Given the description of an element on the screen output the (x, y) to click on. 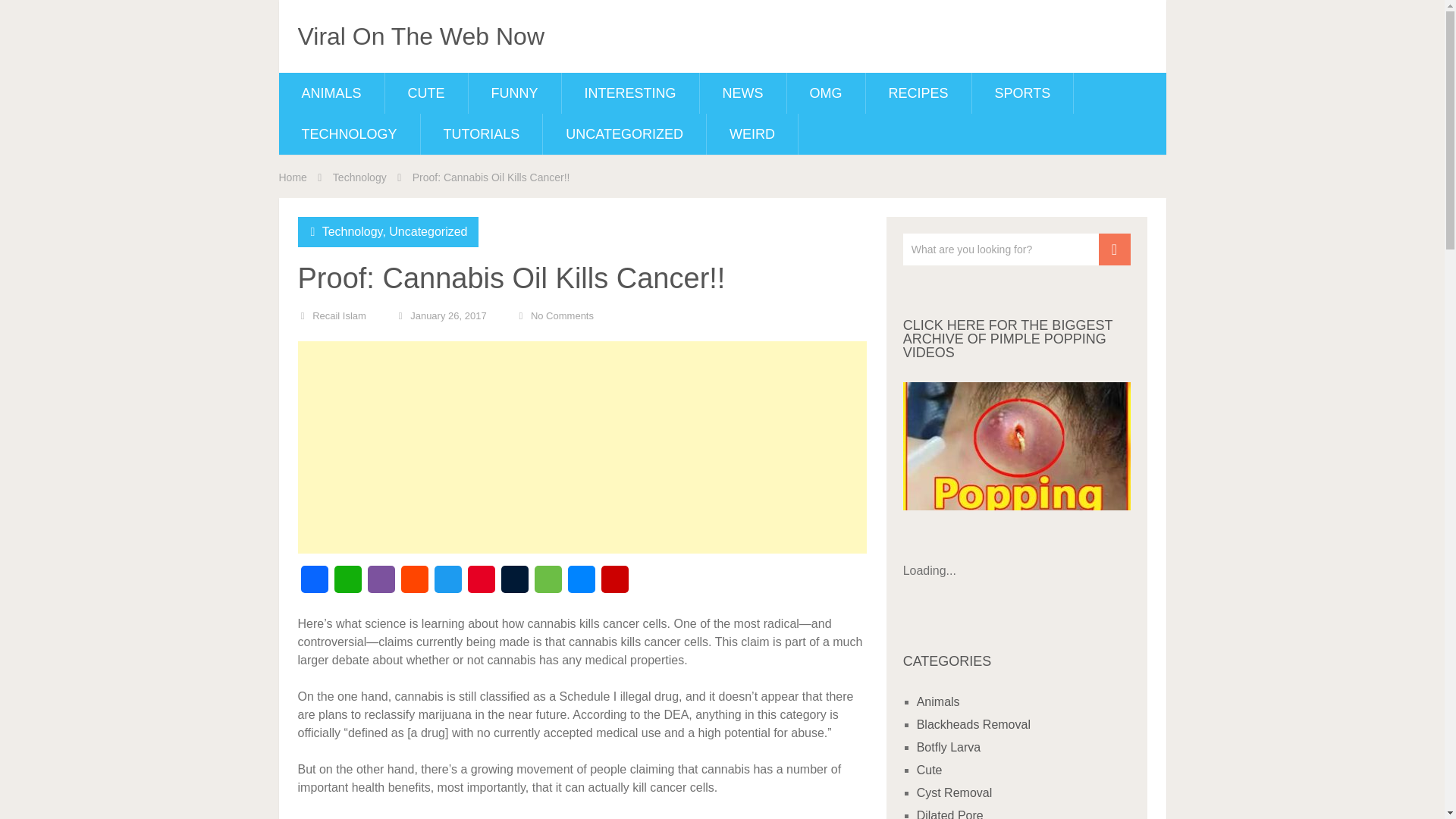
Pinterest (480, 583)
Technology (351, 231)
WEIRD (751, 133)
Pinterest (480, 583)
FUNNY (514, 92)
UNCATEGORIZED (624, 133)
Twitter (447, 583)
TECHNOLOGY (349, 133)
TUTORIALS (481, 133)
Tumblr (514, 583)
CUTE (426, 92)
OMG (825, 92)
Message (547, 583)
Viber (380, 583)
Tumblr (514, 583)
